Given the description of an element on the screen output the (x, y) to click on. 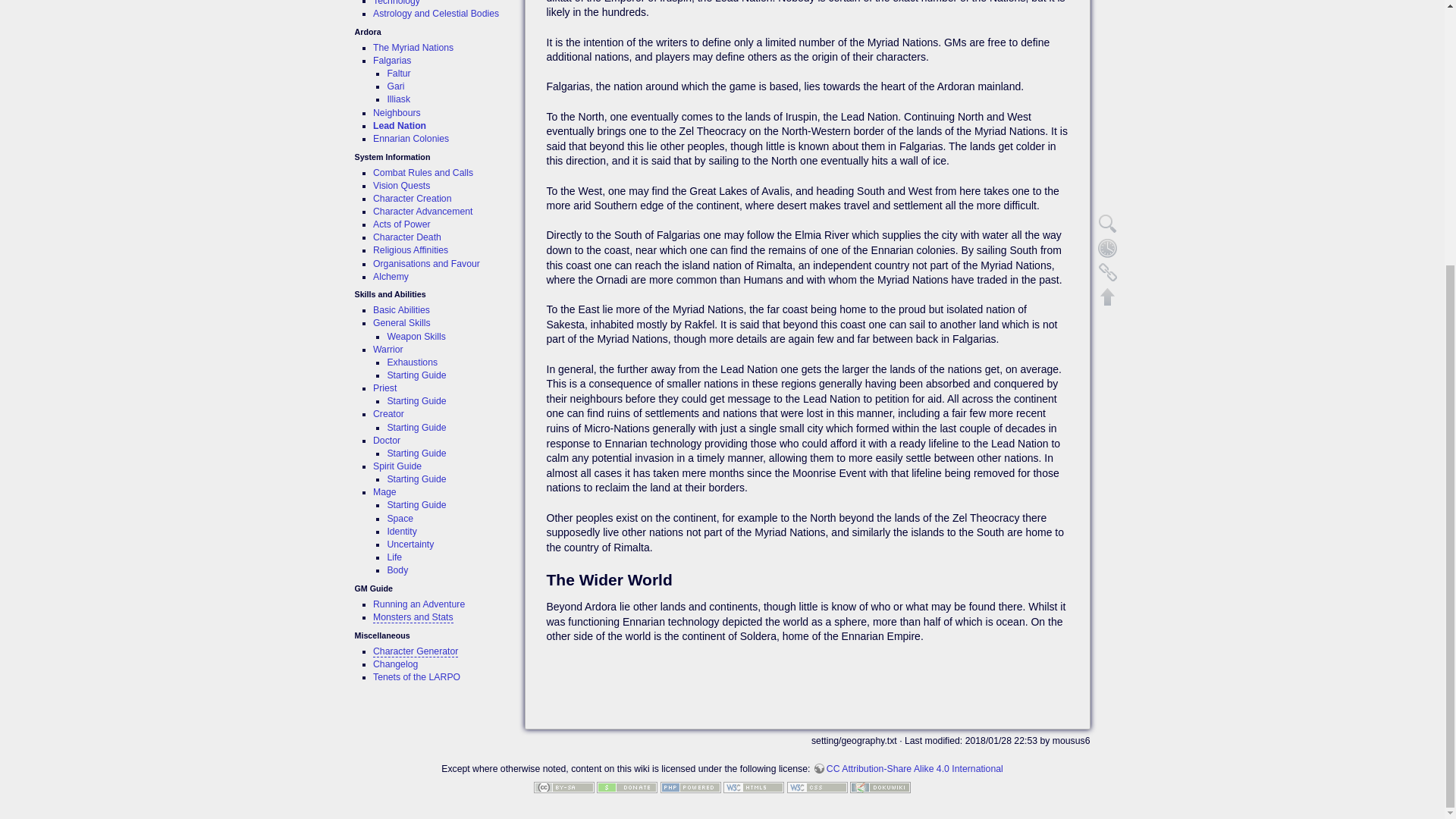
Gari (395, 86)
Vision Quests (400, 185)
Character Death (406, 236)
Acts of Power (401, 224)
Technology (396, 2)
Character Creation (411, 198)
The Myriad Nations (412, 47)
Faltur (398, 72)
Illiask (398, 99)
Ennarian Colonies (410, 138)
Falgarias (391, 60)
Organisations and Favour (426, 263)
Combat Rules and Calls (422, 172)
Lead Nation (399, 125)
Astrology and Celestial Bodies (435, 13)
